Given the description of an element on the screen output the (x, y) to click on. 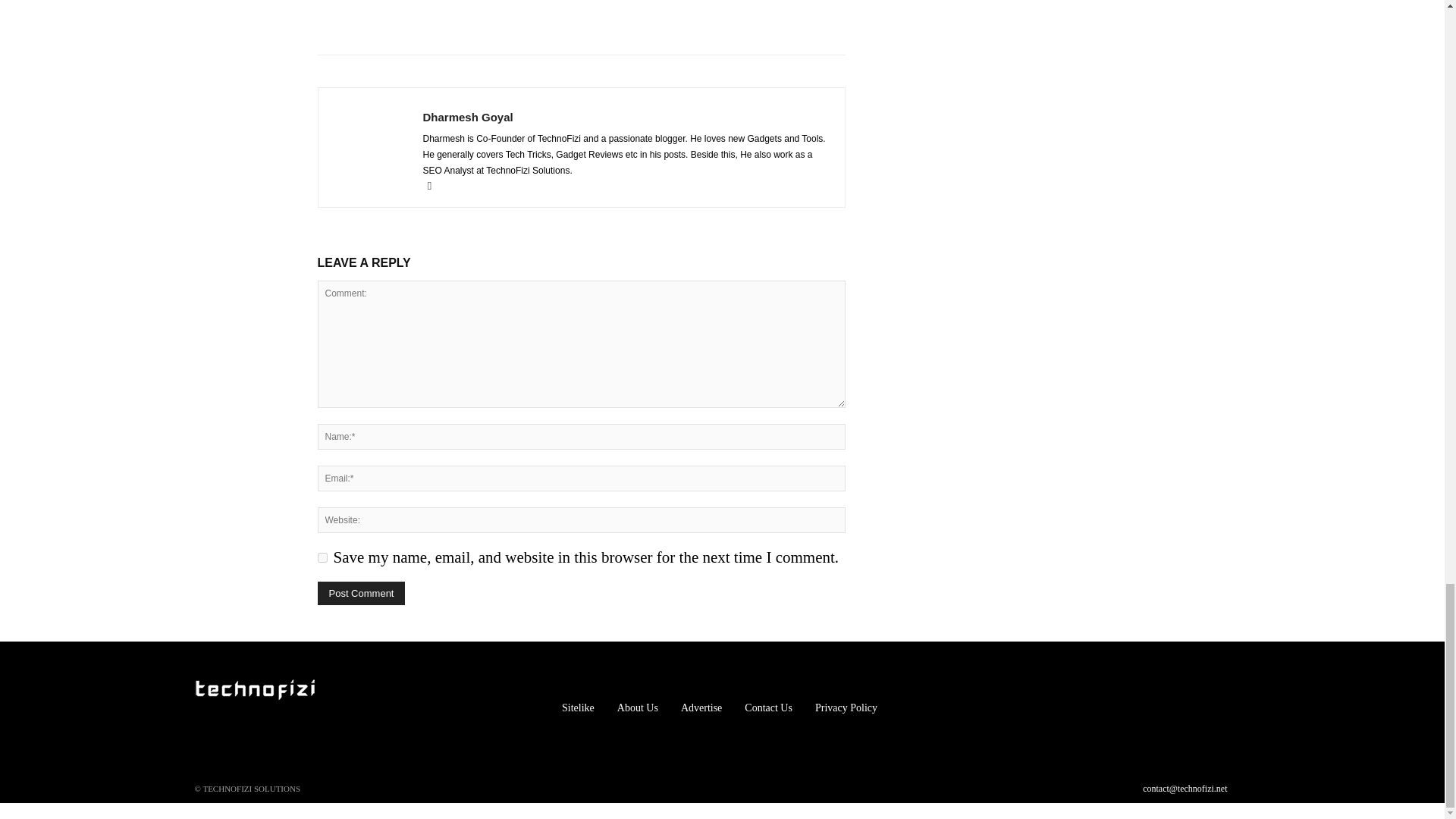
yes (321, 557)
Facebook (435, 185)
Post Comment (360, 593)
